Given the description of an element on the screen output the (x, y) to click on. 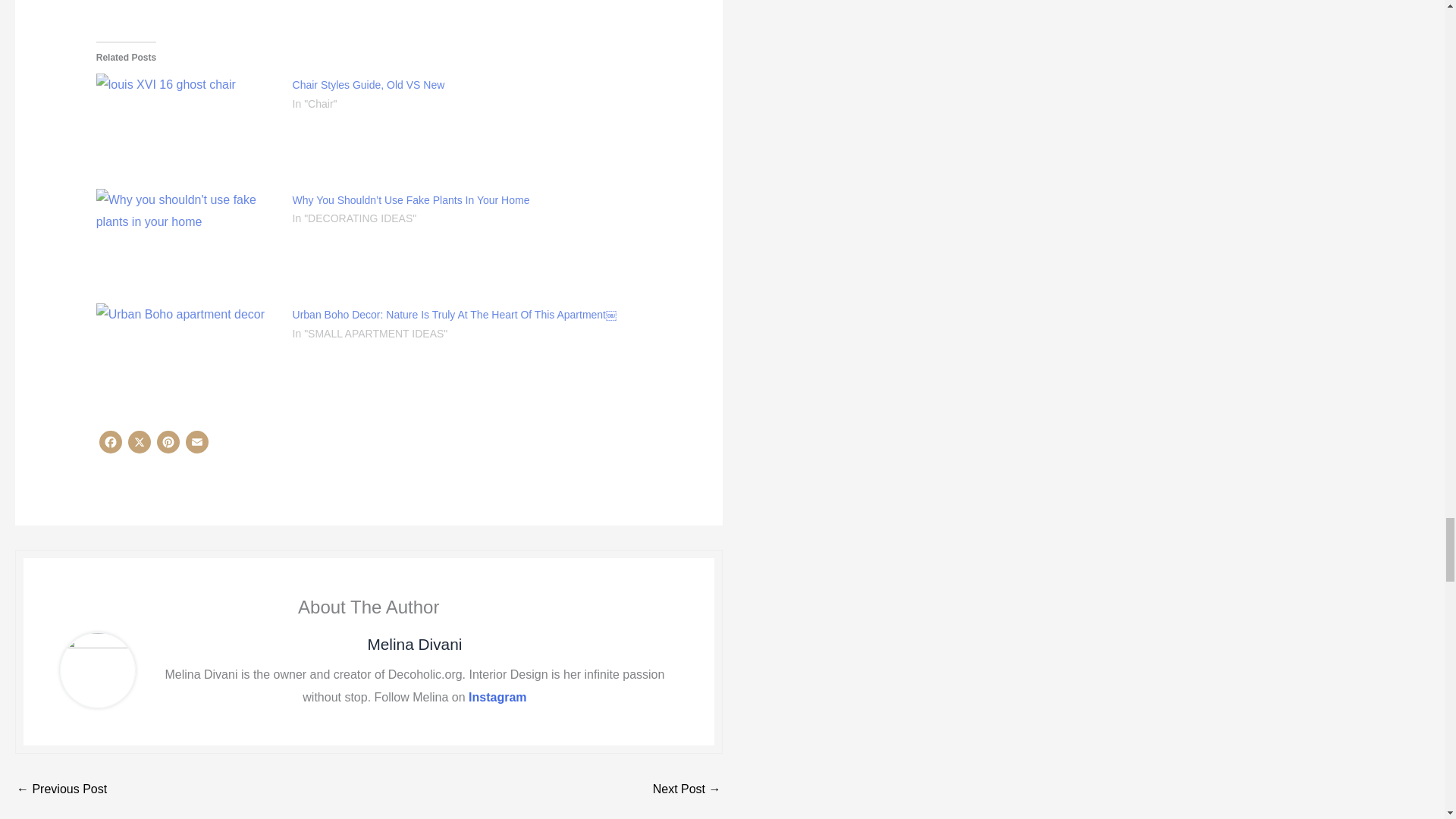
X (139, 445)
A Poetic Loft (686, 788)
Email (197, 445)
Facebook (110, 445)
Chair Styles Guide, Old VS New (368, 84)
Pinterest (168, 445)
